Given the description of an element on the screen output the (x, y) to click on. 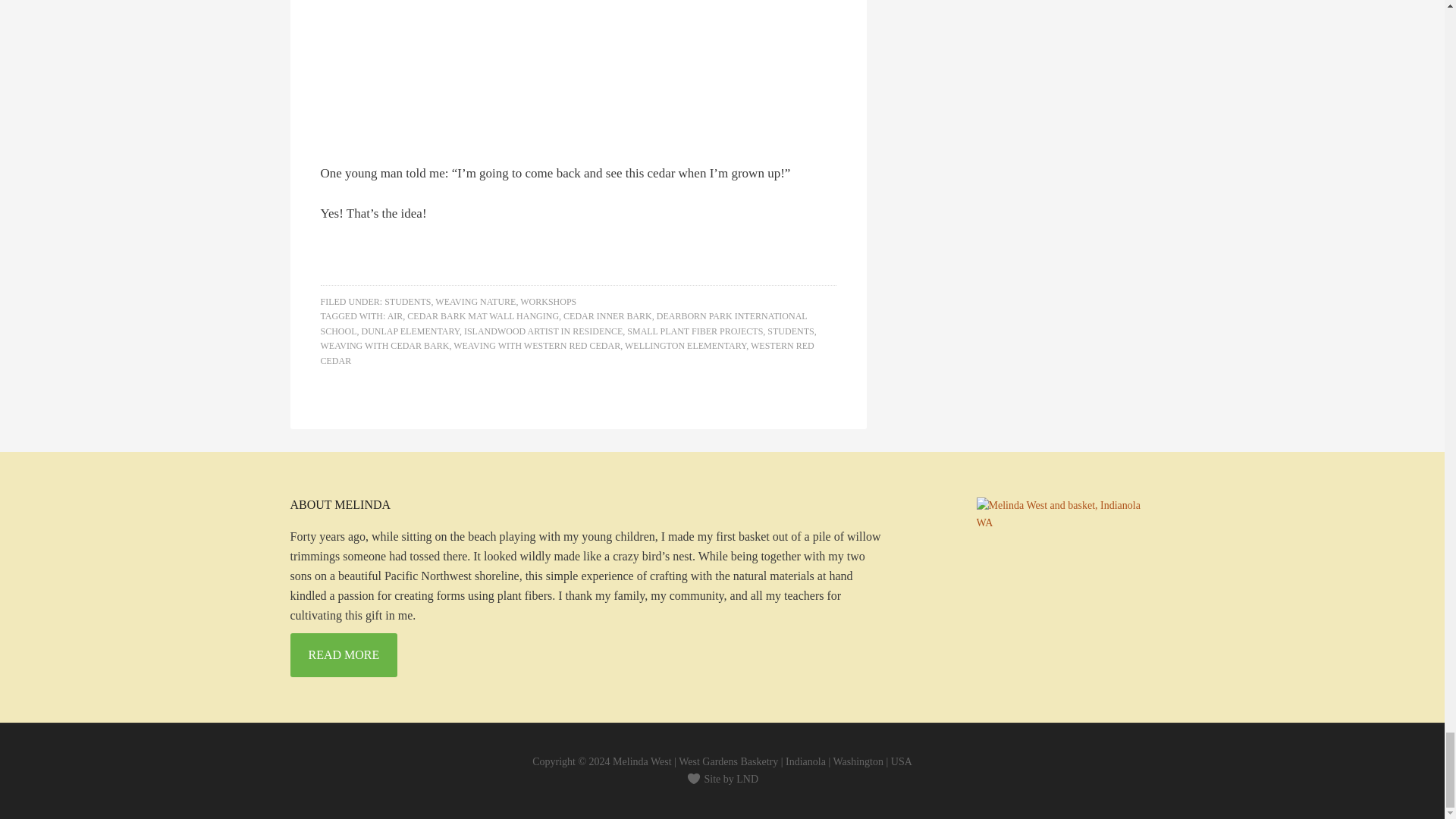
WEAVING NATURE (475, 301)
STUDENTS (407, 301)
ISLANDWOOD ARTIST IN RESIDENCE (543, 330)
DEARBORN PARK INTERNATIONAL SCHOOL (563, 323)
WESTERN RED CEDAR (566, 353)
DUNLAP ELEMENTARY (410, 330)
WORKSHOPS (547, 301)
SMALL PLANT FIBER PROJECTS (694, 330)
WEAVING WITH WESTERN RED CEDAR (536, 345)
WEAVING WITH CEDAR BARK (384, 345)
